Given the description of an element on the screen output the (x, y) to click on. 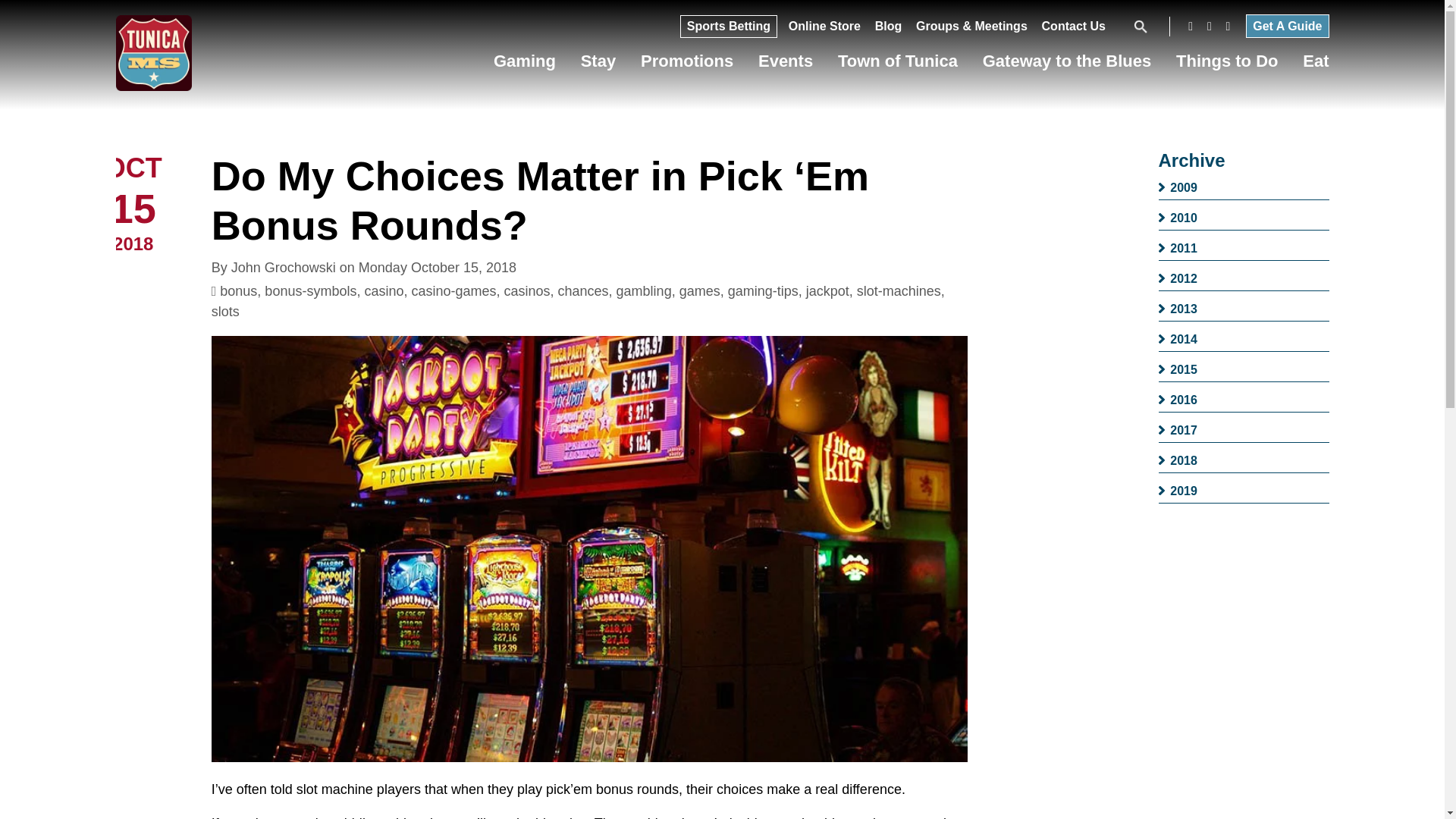
Contact Us (1073, 29)
Get A Guide (1286, 25)
Events (785, 64)
Online Store (824, 29)
Stay (597, 64)
Gaming (524, 64)
Promotions (686, 64)
Blog (888, 29)
Sports Betting (728, 29)
